Given the description of an element on the screen output the (x, y) to click on. 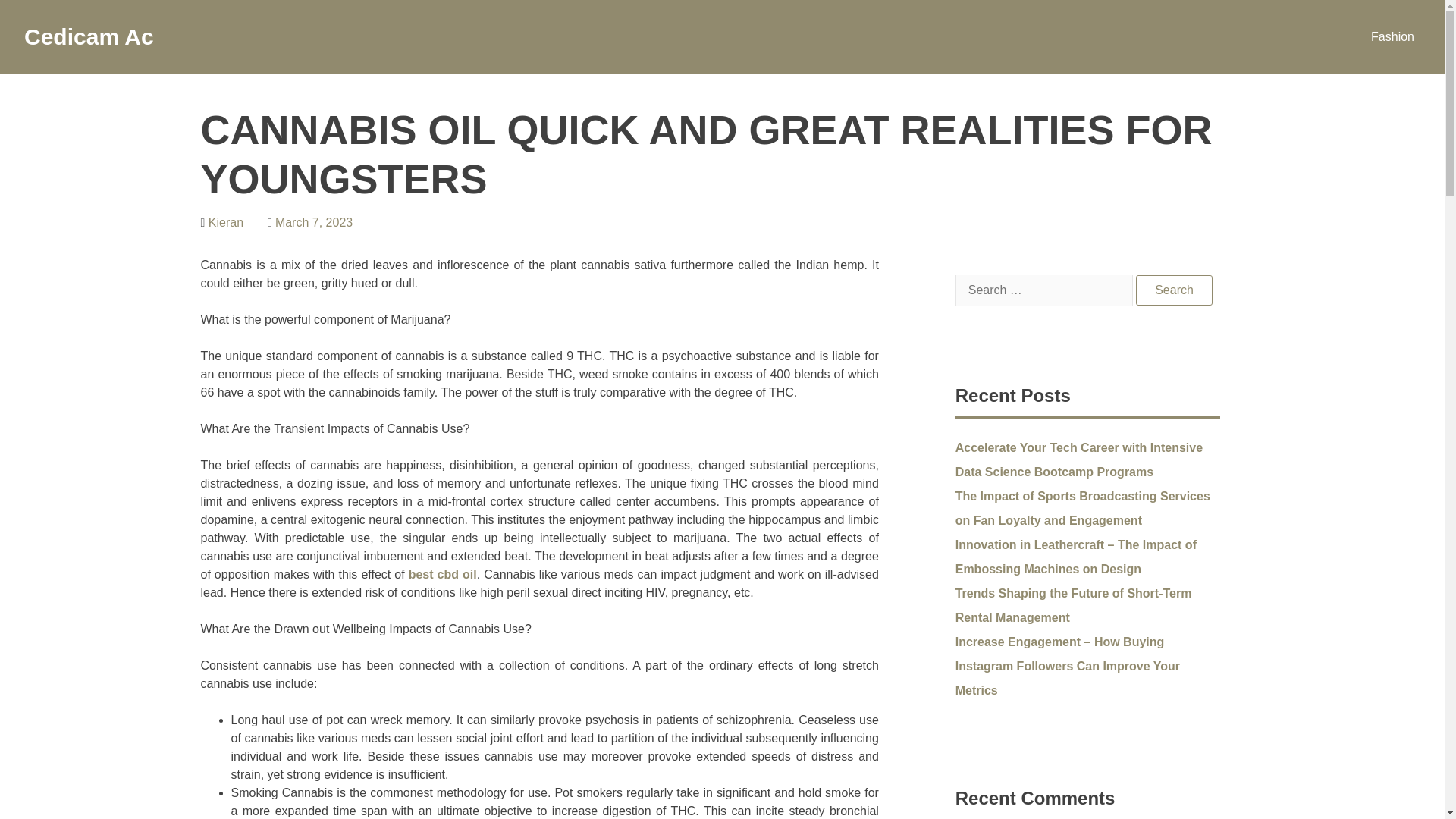
Fashion (1393, 36)
March 7, 2023 (313, 222)
best cbd oil (443, 574)
Search (1173, 290)
Cedicam Ac (89, 36)
Trends Shaping the Future of Short-Term Rental Management (1073, 605)
Search (1173, 290)
Search (1173, 290)
Kieran (225, 222)
